Given the description of an element on the screen output the (x, y) to click on. 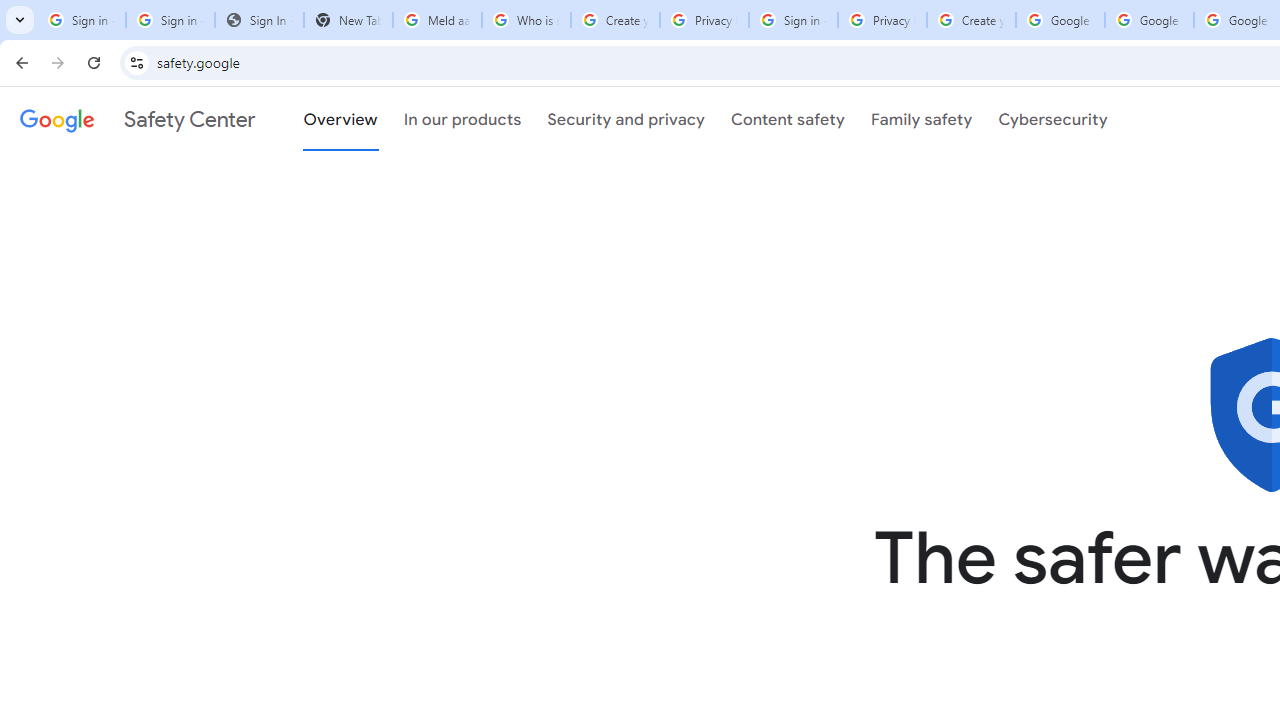
Sign in - Google Accounts (81, 20)
Who is my administrator? - Google Account Help (526, 20)
New Tab (347, 20)
Security and privacy (626, 119)
Content safety (787, 119)
Sign in - Google Accounts (170, 20)
